Given the description of an element on the screen output the (x, y) to click on. 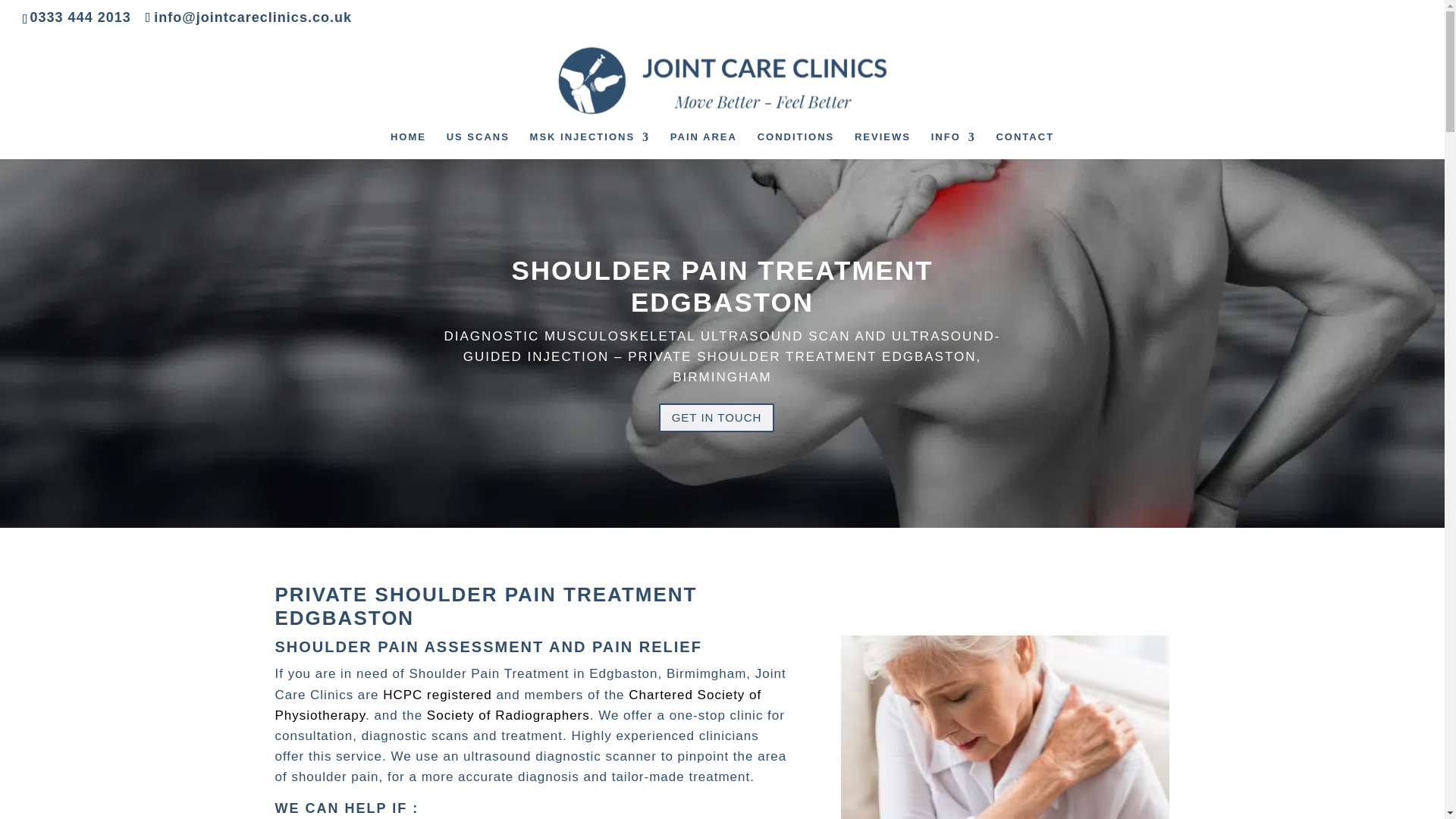
HCPC registered (437, 694)
GET IN TOUCH (716, 418)
HOME (408, 144)
PAIN AREA (702, 144)
US SCANS (477, 144)
CONTACT (1024, 144)
REVIEWS (882, 144)
CONDITIONS (795, 144)
MSK INJECTIONS (589, 144)
Society of Radiographers (507, 715)
INFO (953, 144)
Chartered Society of Physiotherapy (518, 704)
